Given the description of an element on the screen output the (x, y) to click on. 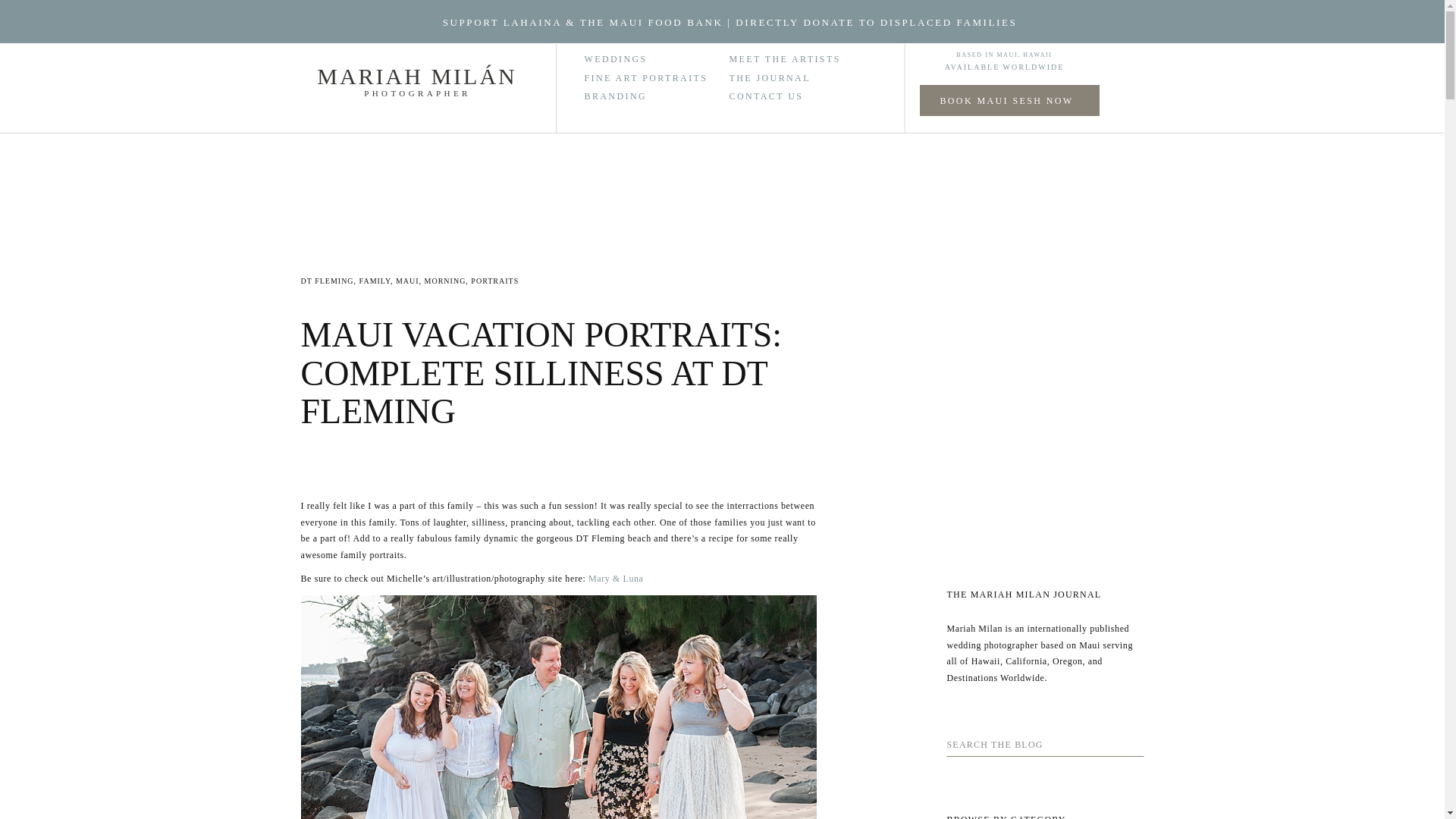
FINE ART PORTRAITS (657, 76)
MEET THE ARTISTS (807, 55)
MAUI (407, 280)
MORNING (445, 280)
PORTRAITS (494, 280)
DIRECTLY DONATE TO DISPLACED FAMILIES (875, 21)
BRANDING (657, 95)
BOOK MAUI SESH NOW (1006, 99)
DT FLEMING (326, 280)
CONTACT US (778, 92)
